Given the description of an element on the screen output the (x, y) to click on. 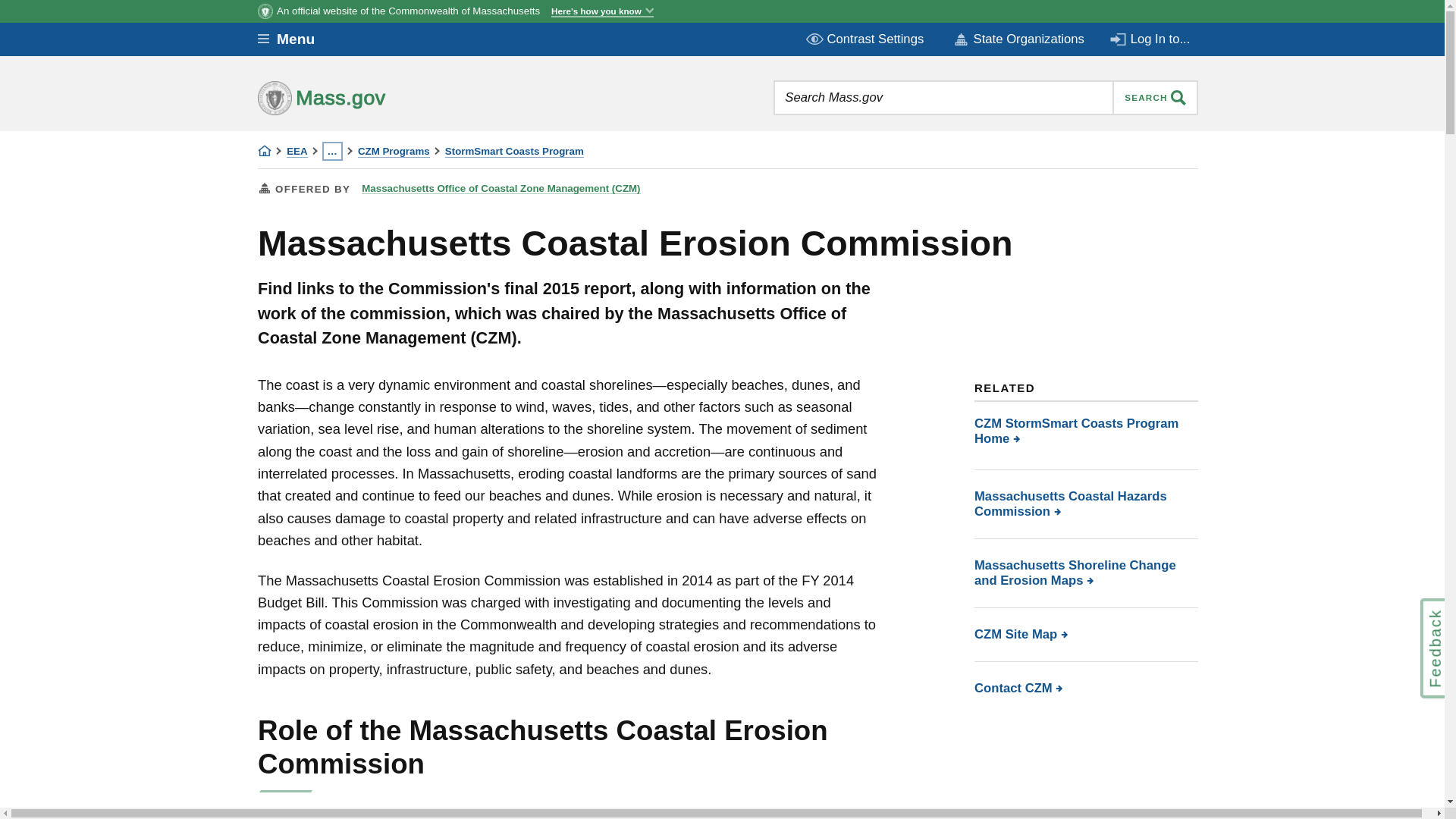
Mass.gov home page (369, 97)
Contrast Settings (866, 38)
Menu (297, 39)
Log In to... (1151, 38)
State Organizations (1018, 39)
